Given the description of an element on the screen output the (x, y) to click on. 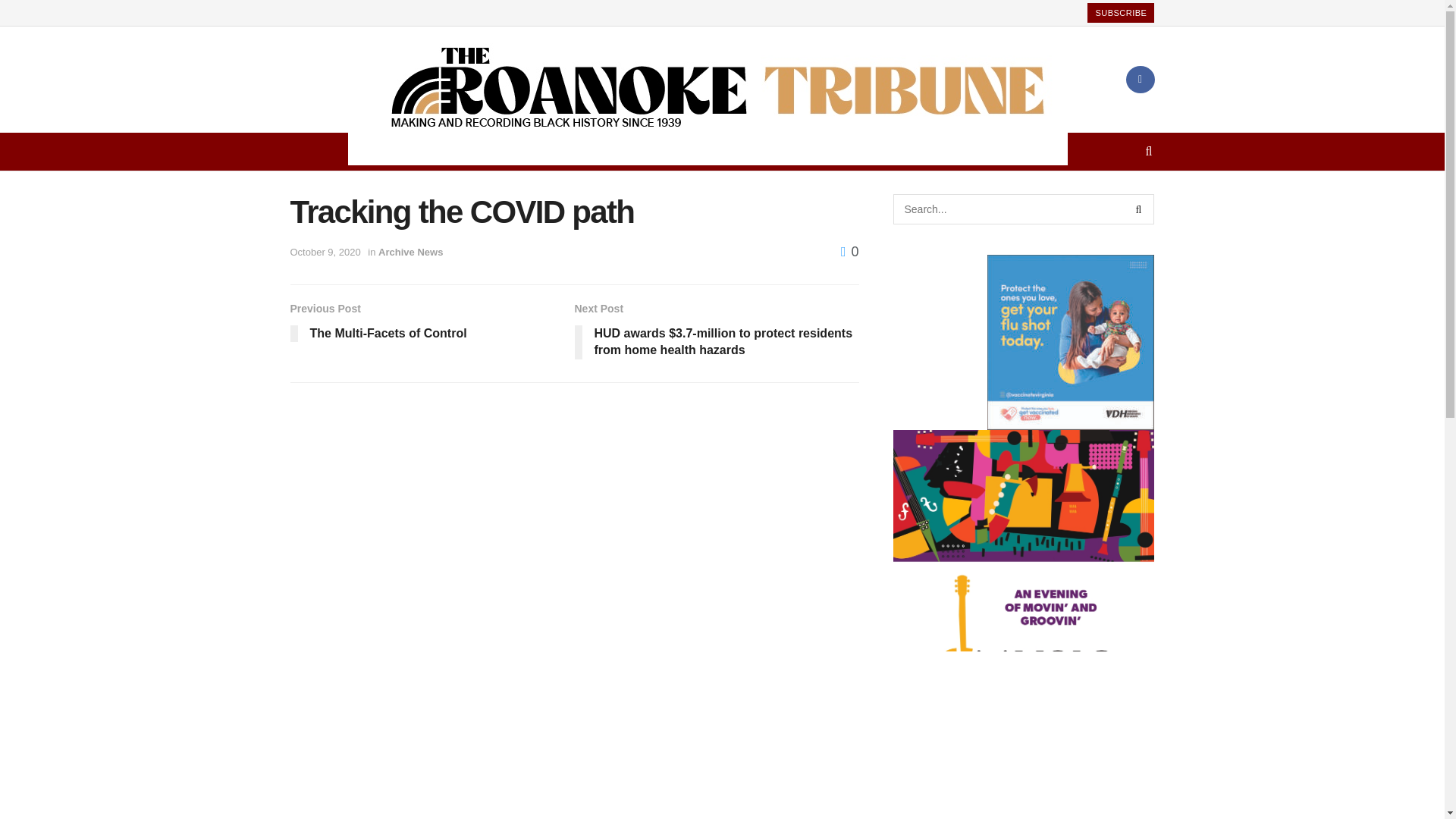
SUBSCRIBE (1120, 12)
October 9, 2020 (324, 251)
Archive News (410, 251)
0 (850, 251)
Archive News (792, 151)
Our History (867, 151)
Subscribe (431, 324)
Regional News (935, 151)
Commentary (509, 151)
Black College Sports (711, 151)
